Given the description of an element on the screen output the (x, y) to click on. 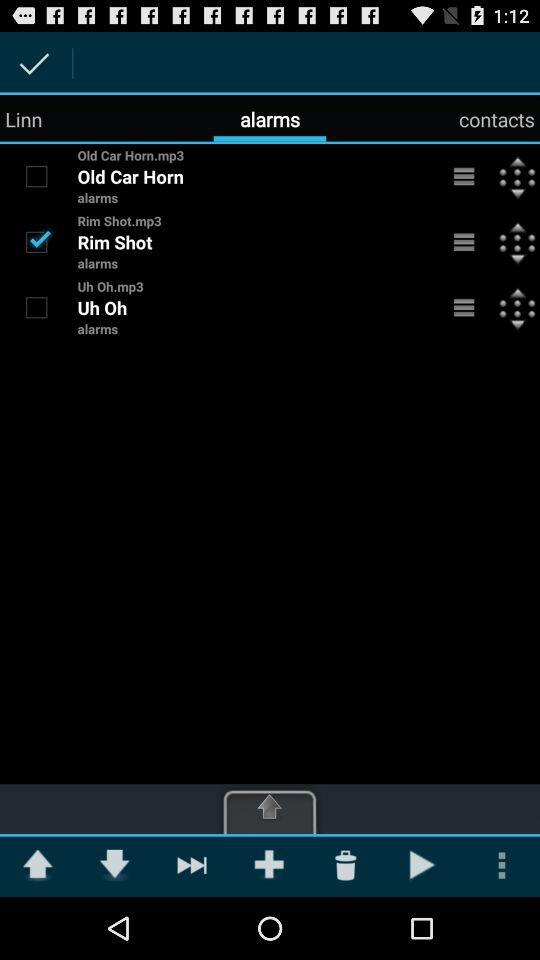
see menu option (463, 241)
